Given the description of an element on the screen output the (x, y) to click on. 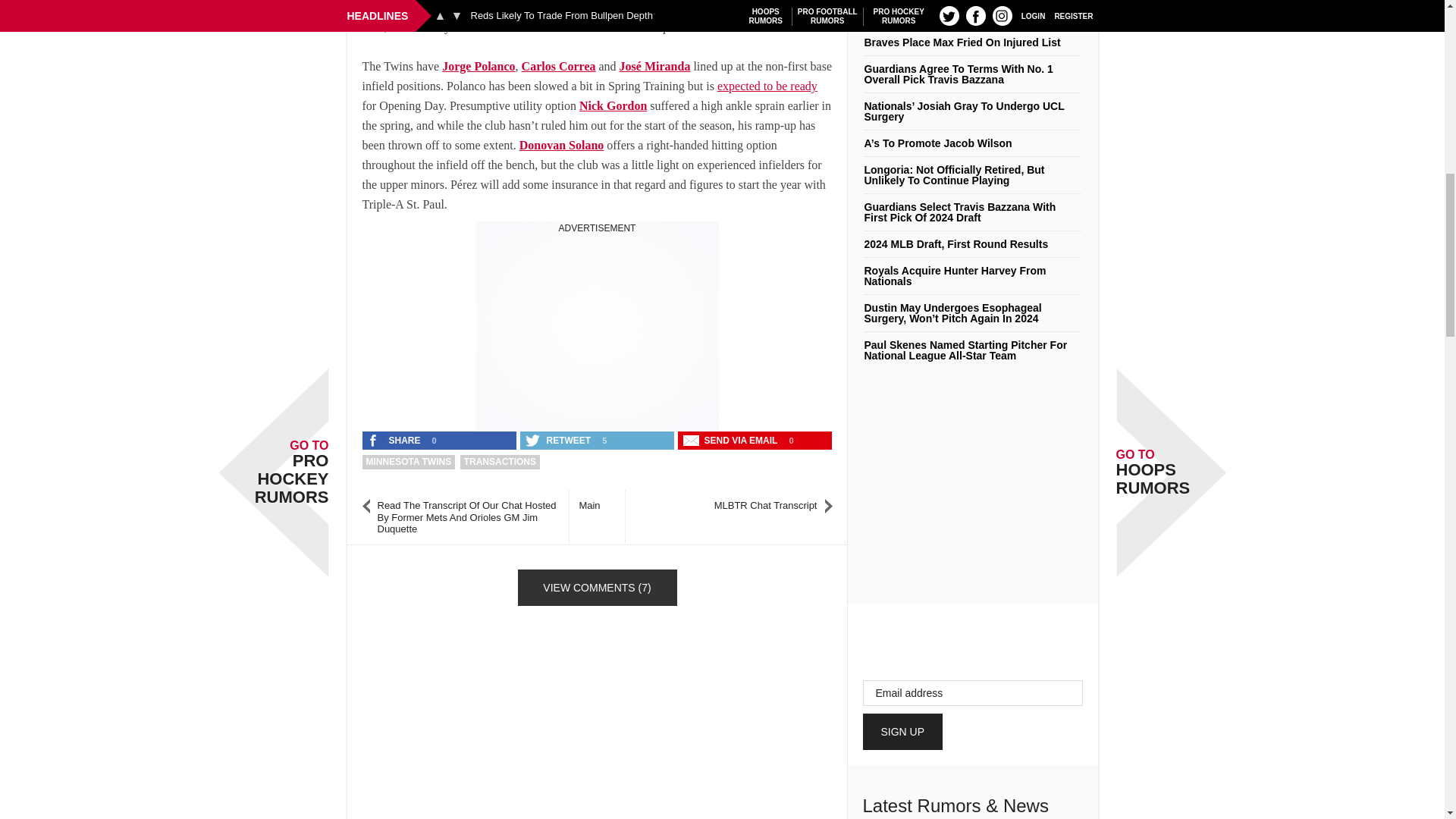
3rd party ad content (597, 329)
Sign Up (903, 731)
